Given the description of an element on the screen output the (x, y) to click on. 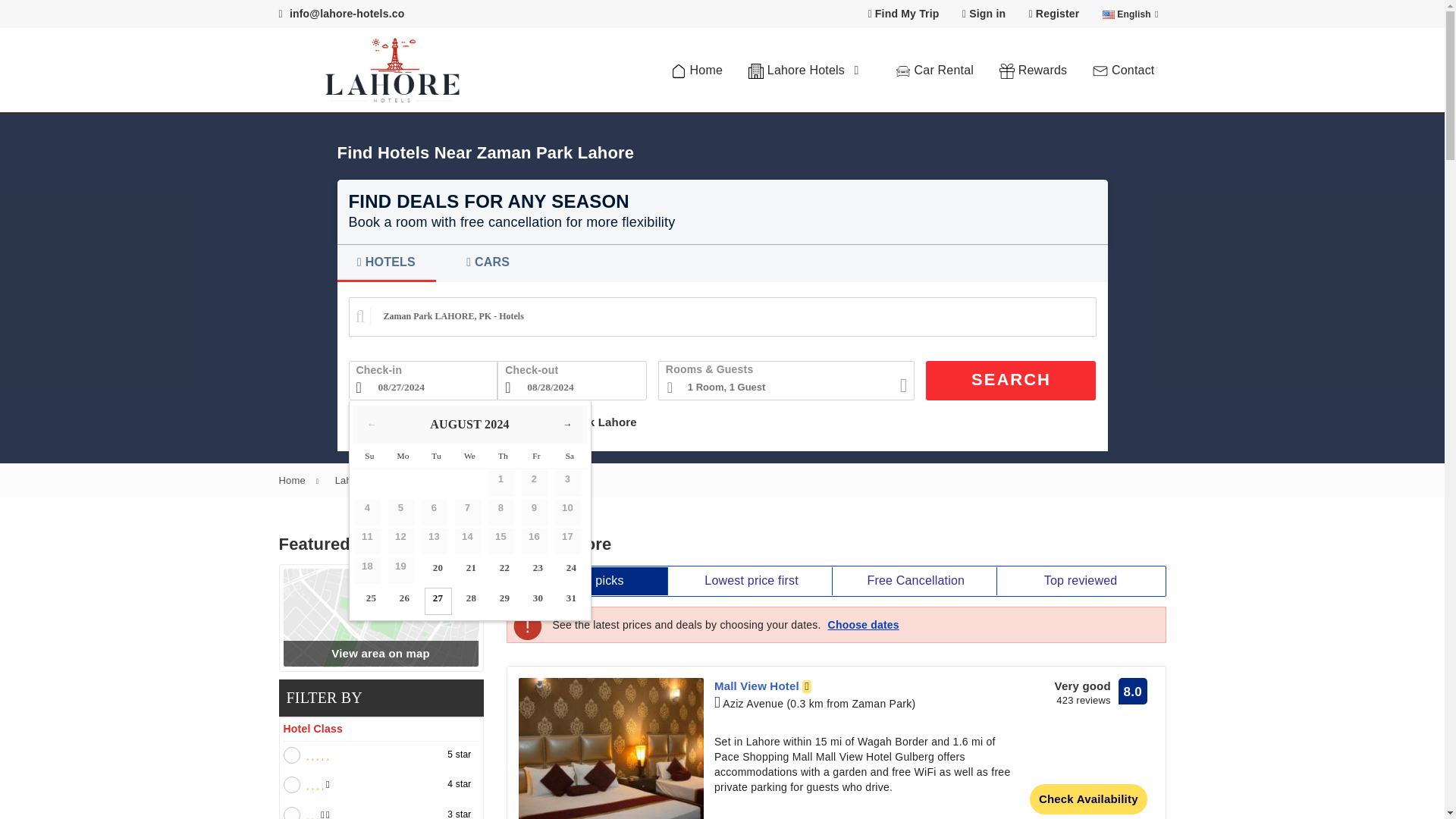
Lahore (363, 481)
Home (306, 481)
Contact (1123, 69)
Lowest price first (751, 581)
Our top picks (586, 581)
Zaman Park LAHORE, PK - Hotels (722, 316)
Mall View Hotel (610, 748)
Find Hotels (808, 69)
Home (696, 69)
Travel Rewards (1033, 69)
